Given the description of an element on the screen output the (x, y) to click on. 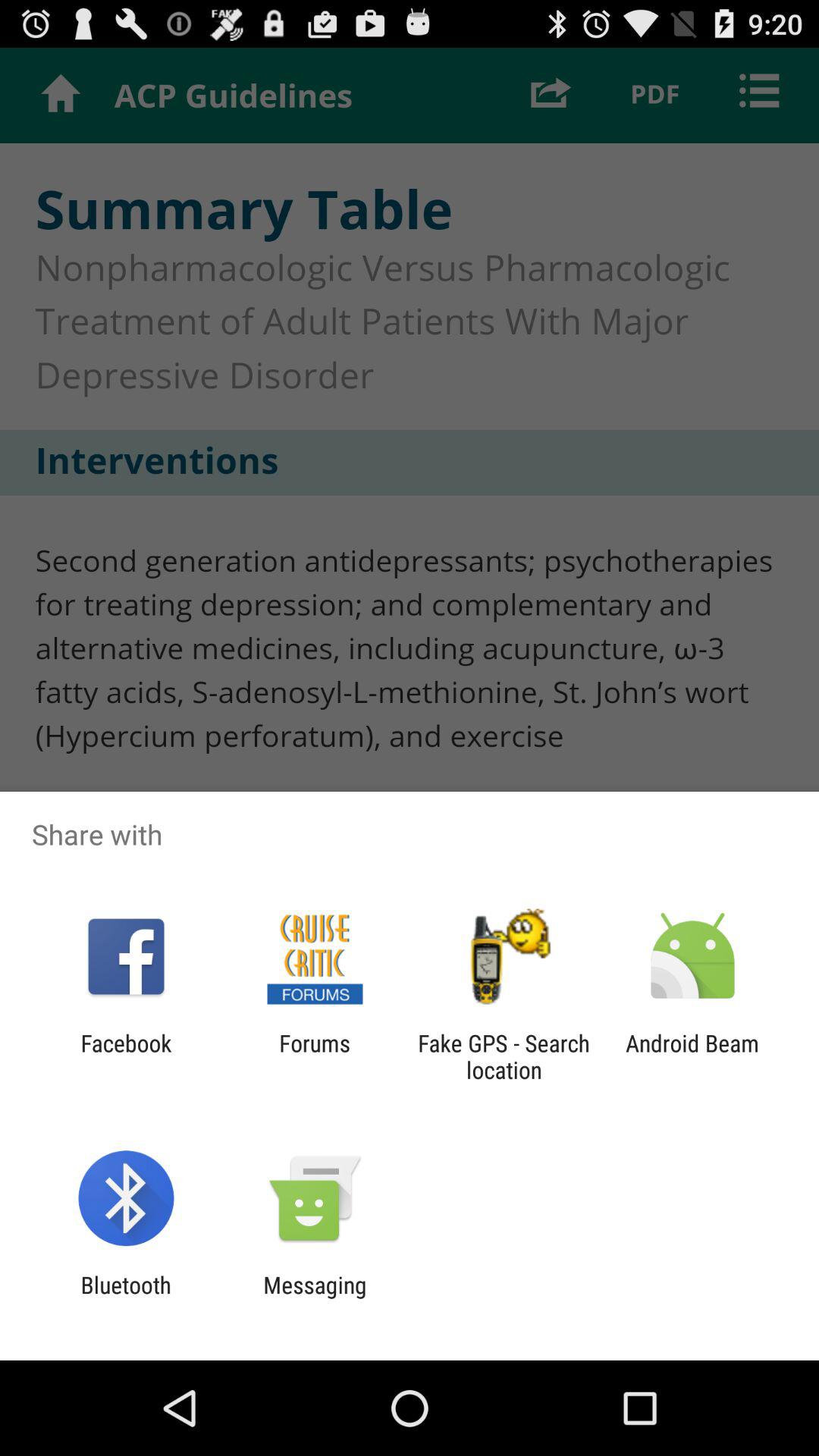
choose the icon to the left of fake gps search item (314, 1056)
